Given the description of an element on the screen output the (x, y) to click on. 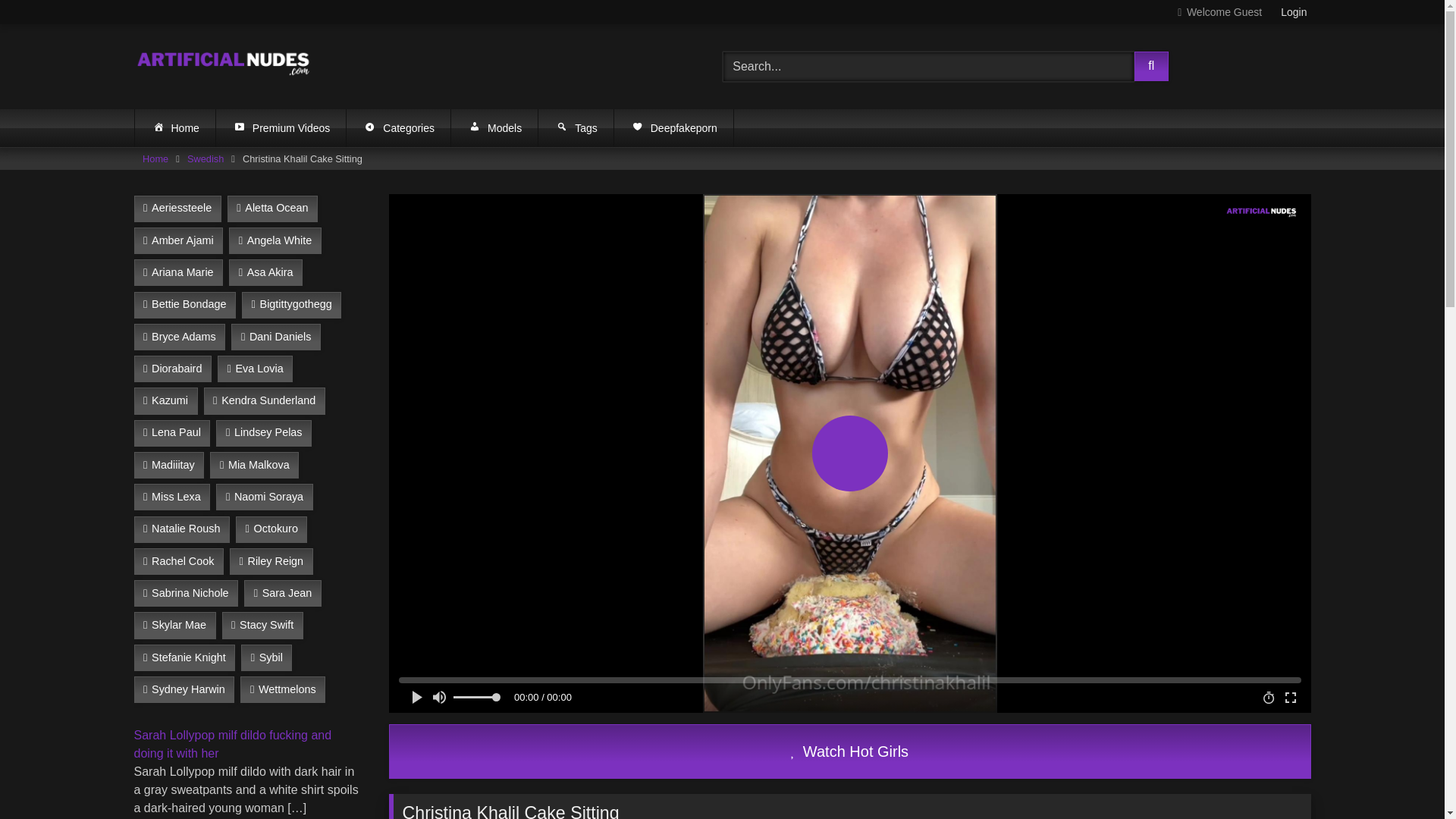
ArtificialNudes.com (224, 66)
Categories (397, 127)
Models (494, 127)
Tags (575, 127)
Premium Videos (280, 127)
Deepfakeporn (673, 127)
Login (1293, 12)
Search... (928, 66)
Christina Khalil Cake Sitting (849, 750)
Home (175, 127)
Home (155, 158)
Watch Hot Girls (849, 750)
Swedish (205, 158)
